Given the description of an element on the screen output the (x, y) to click on. 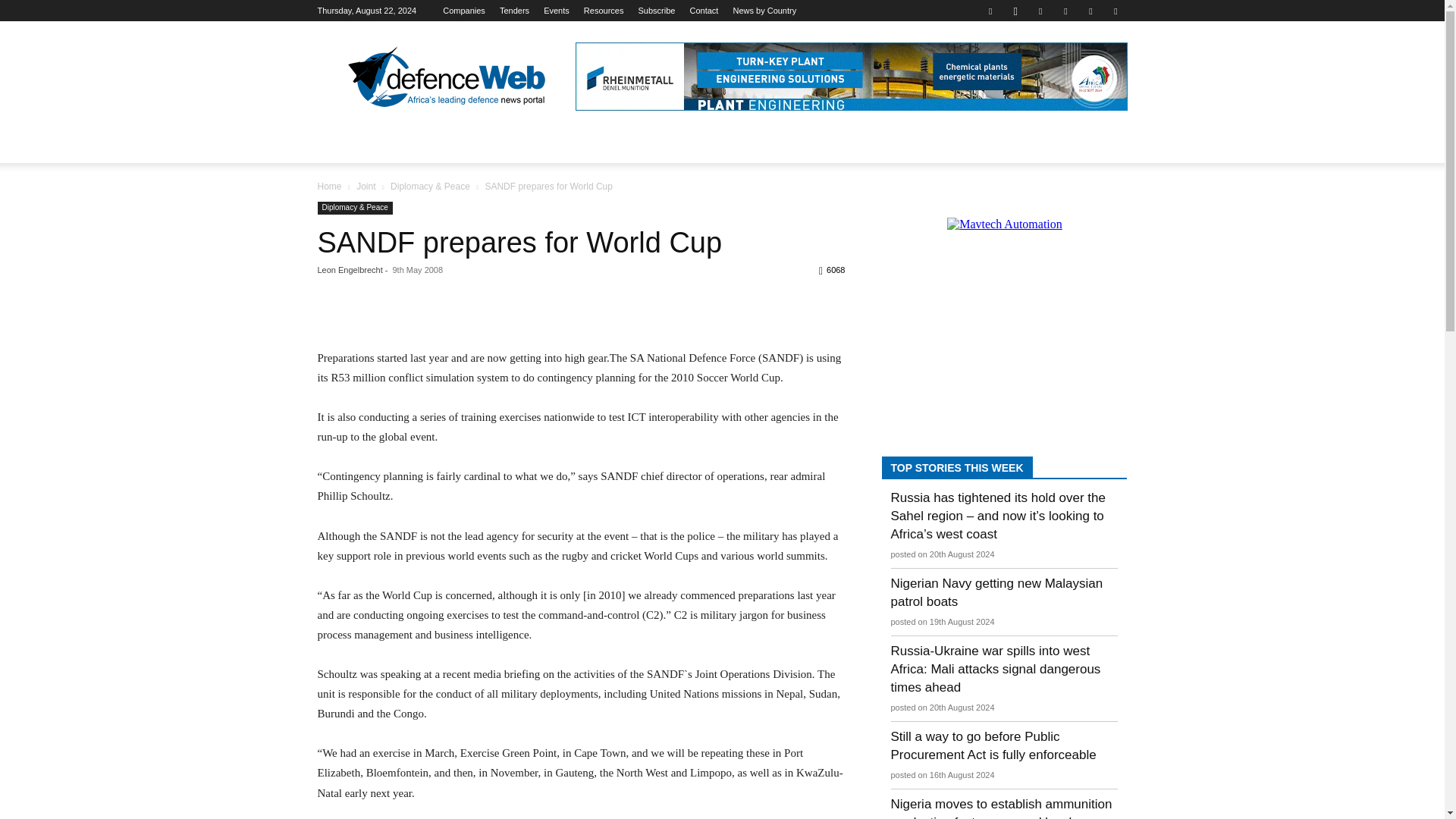
Mail (1065, 10)
Twitter (1090, 10)
Instagram (1015, 10)
Linkedin (1040, 10)
Youtube (1114, 10)
Facebook (989, 10)
